Given the description of an element on the screen output the (x, y) to click on. 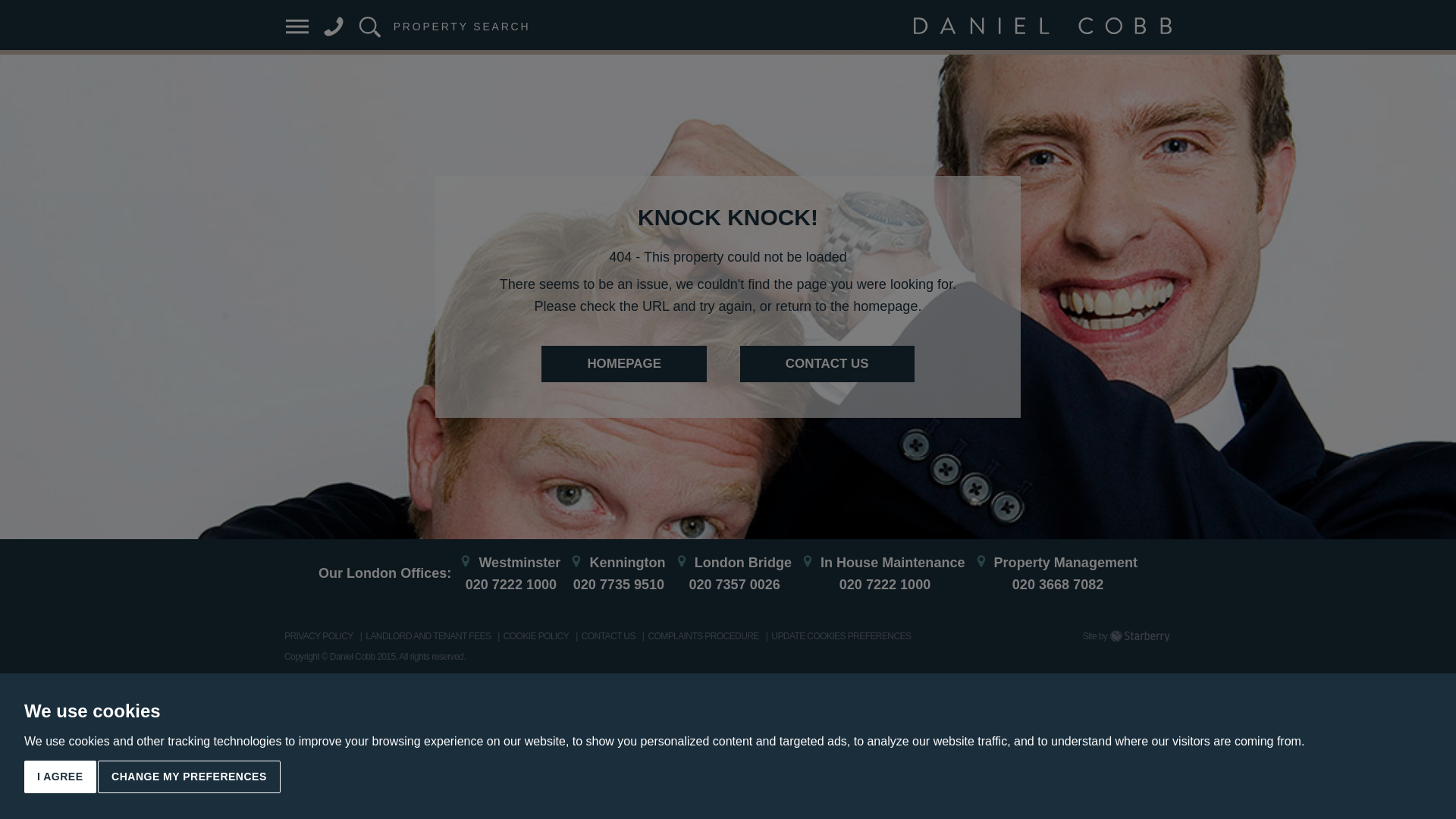
020 7357 0026 (732, 584)
HOMEPAGE (623, 363)
Kennington (627, 562)
linkedin (378, 726)
twitter (337, 726)
020 7222 1000 (509, 584)
UPDATE COOKIES PREFERENCES (841, 635)
In House Maintenance (893, 562)
Property Management (1066, 562)
CONTACT US (826, 363)
020 7222 1000 (882, 584)
I AGREE (60, 776)
CONTACT US (607, 635)
Starberry (1140, 635)
020 7735 9510 (616, 584)
